Given the description of an element on the screen output the (x, y) to click on. 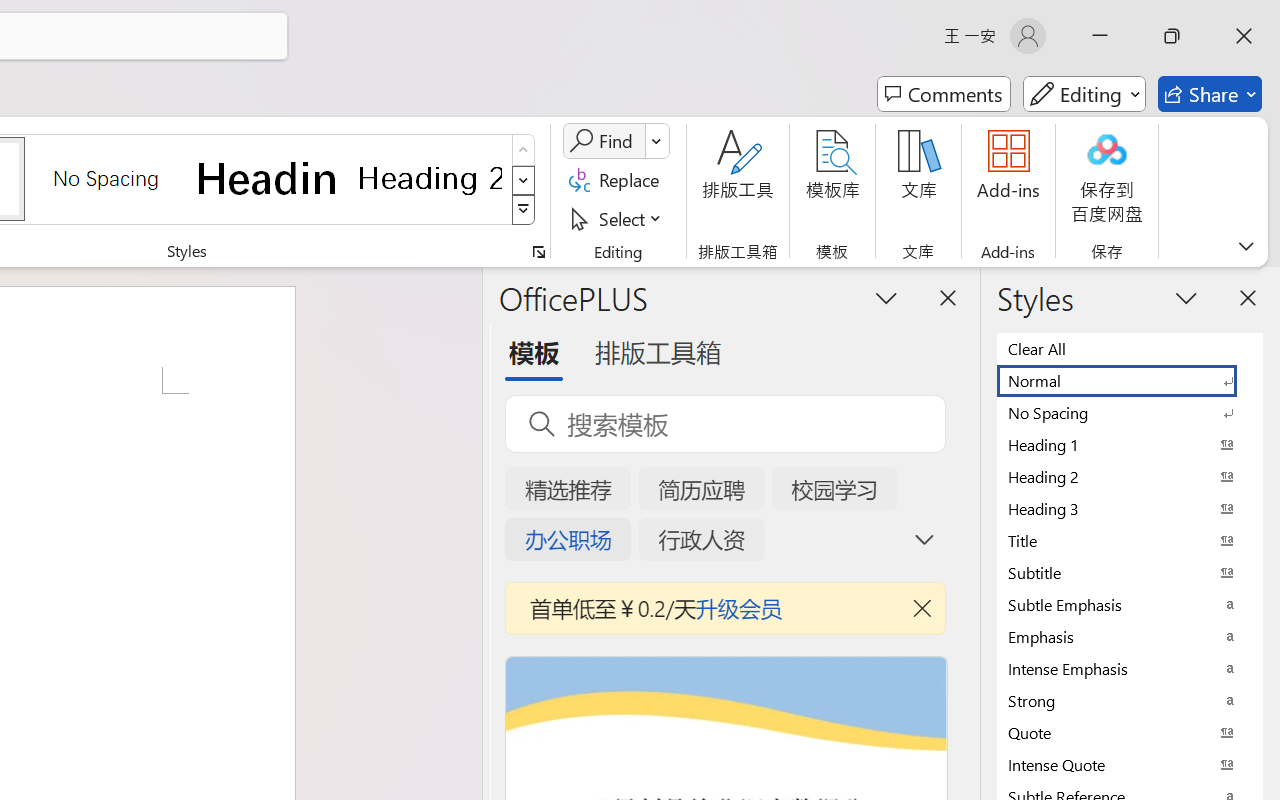
Strong (1130, 700)
Row up (523, 150)
